Given the description of an element on the screen output the (x, y) to click on. 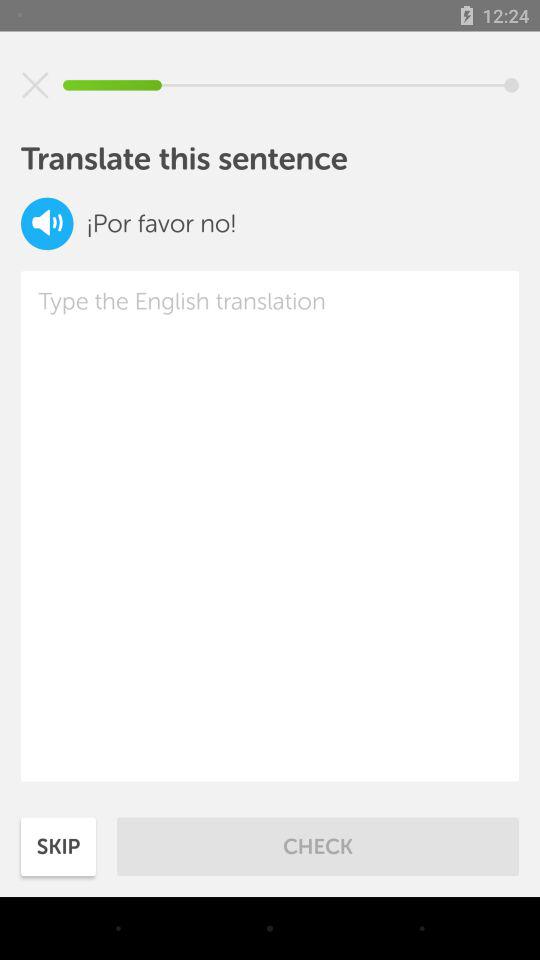
exit that sentence (35, 85)
